Given the description of an element on the screen output the (x, y) to click on. 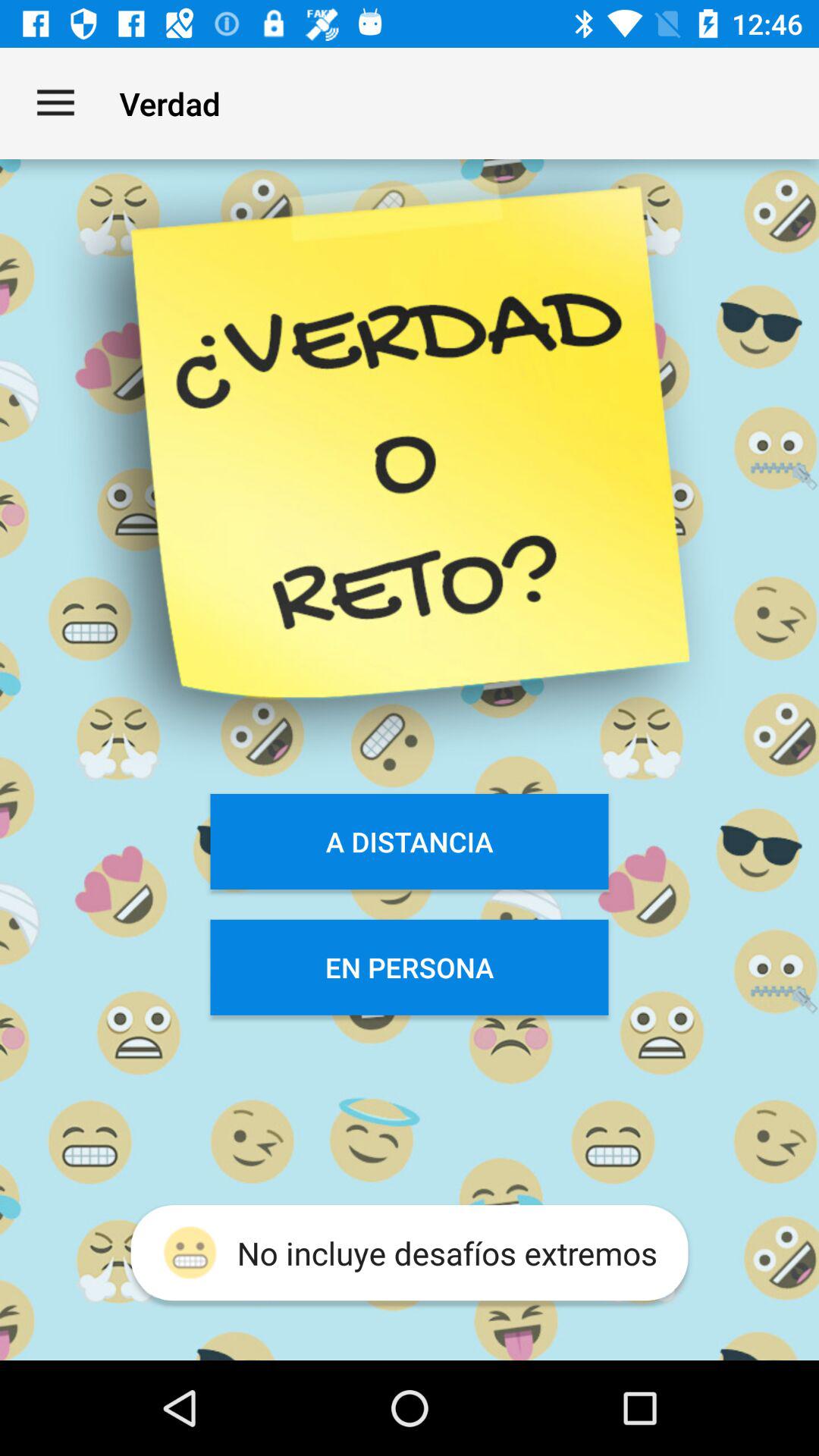
flip until en persona item (409, 967)
